Given the description of an element on the screen output the (x, y) to click on. 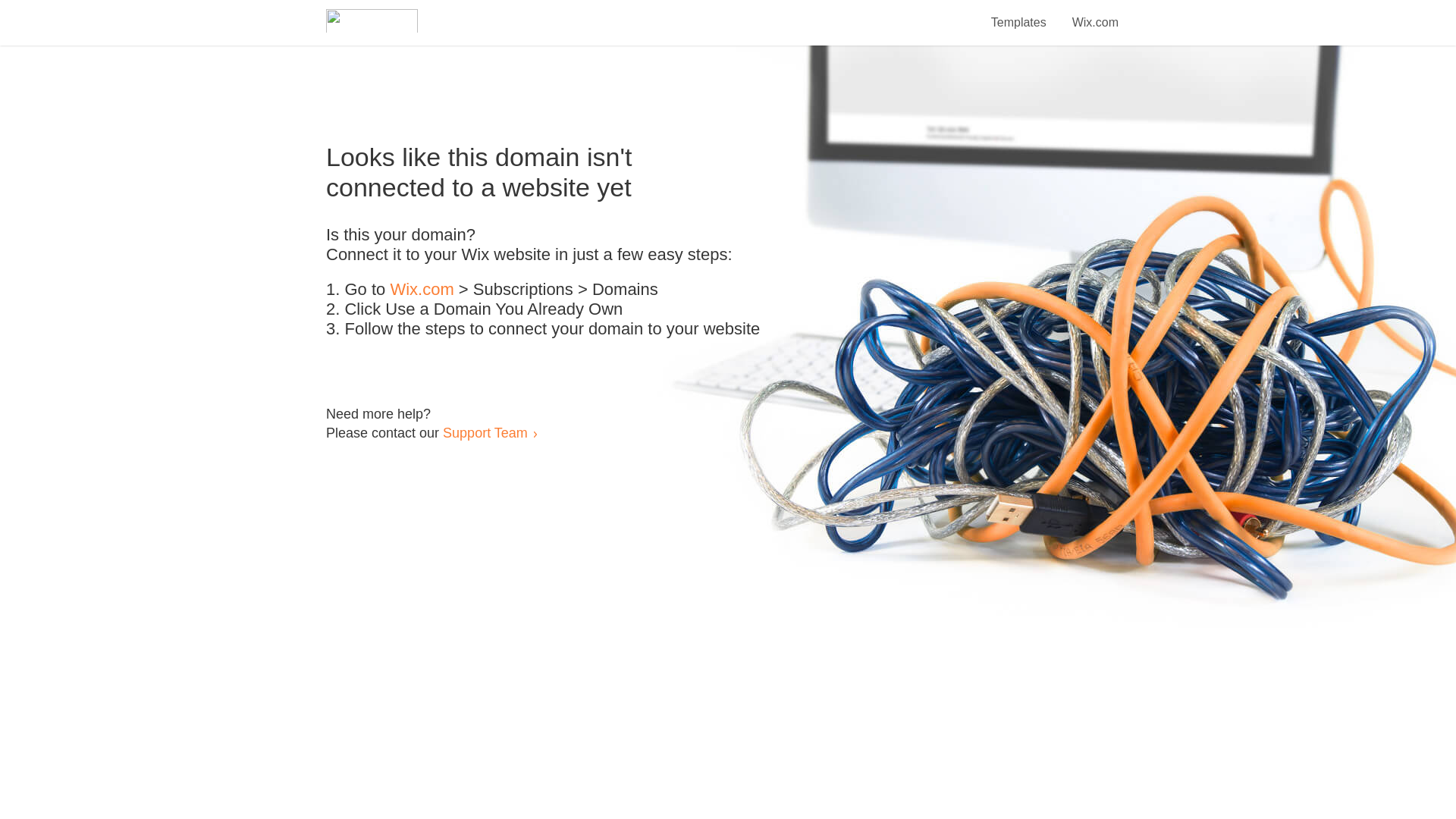
Templates (1018, 14)
Wix.com (1095, 14)
Wix.com (421, 289)
Support Team (484, 432)
